Given the description of an element on the screen output the (x, y) to click on. 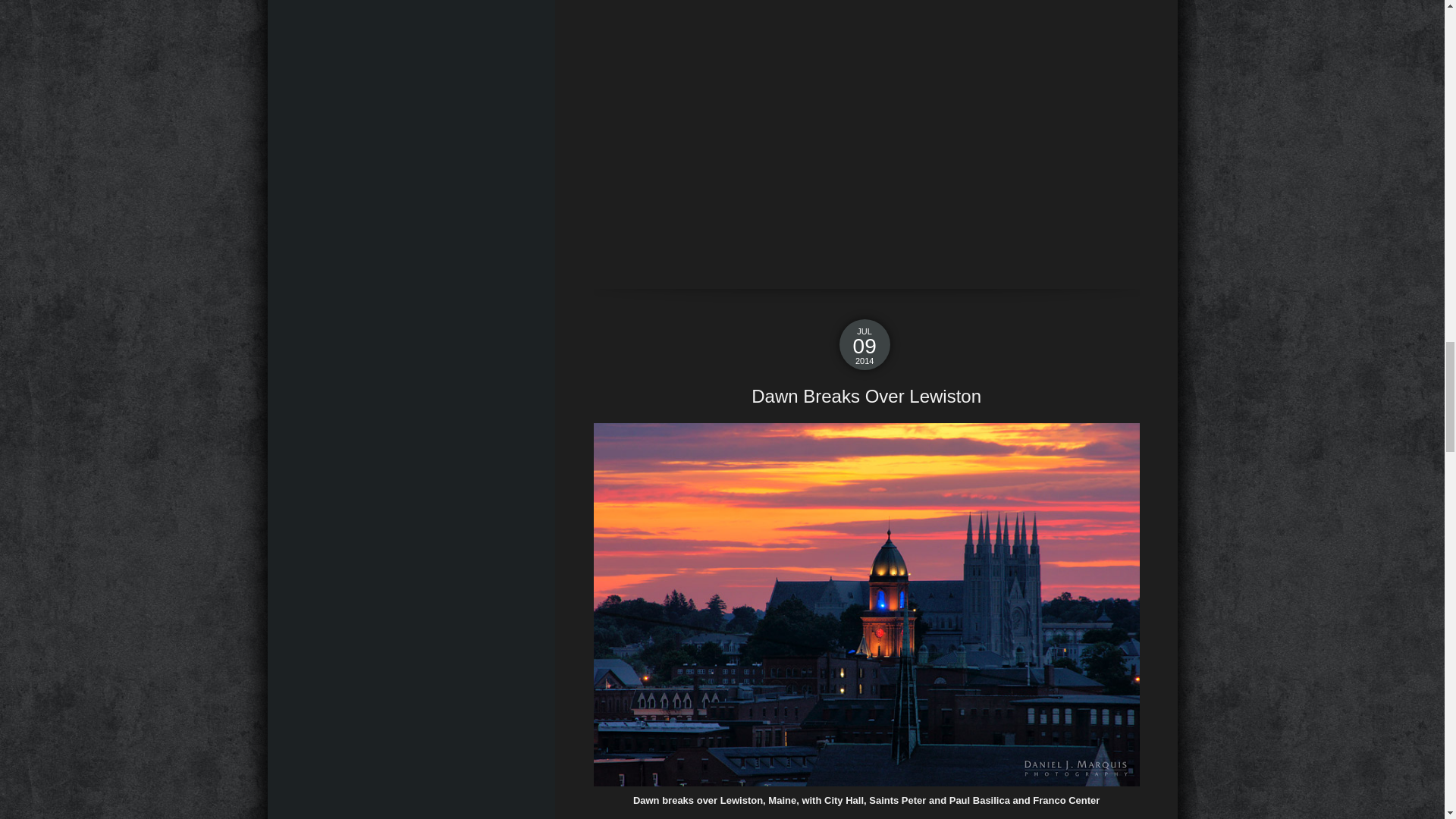
Dawn Breaks Over Lewiston (867, 396)
